Given the description of an element on the screen output the (x, y) to click on. 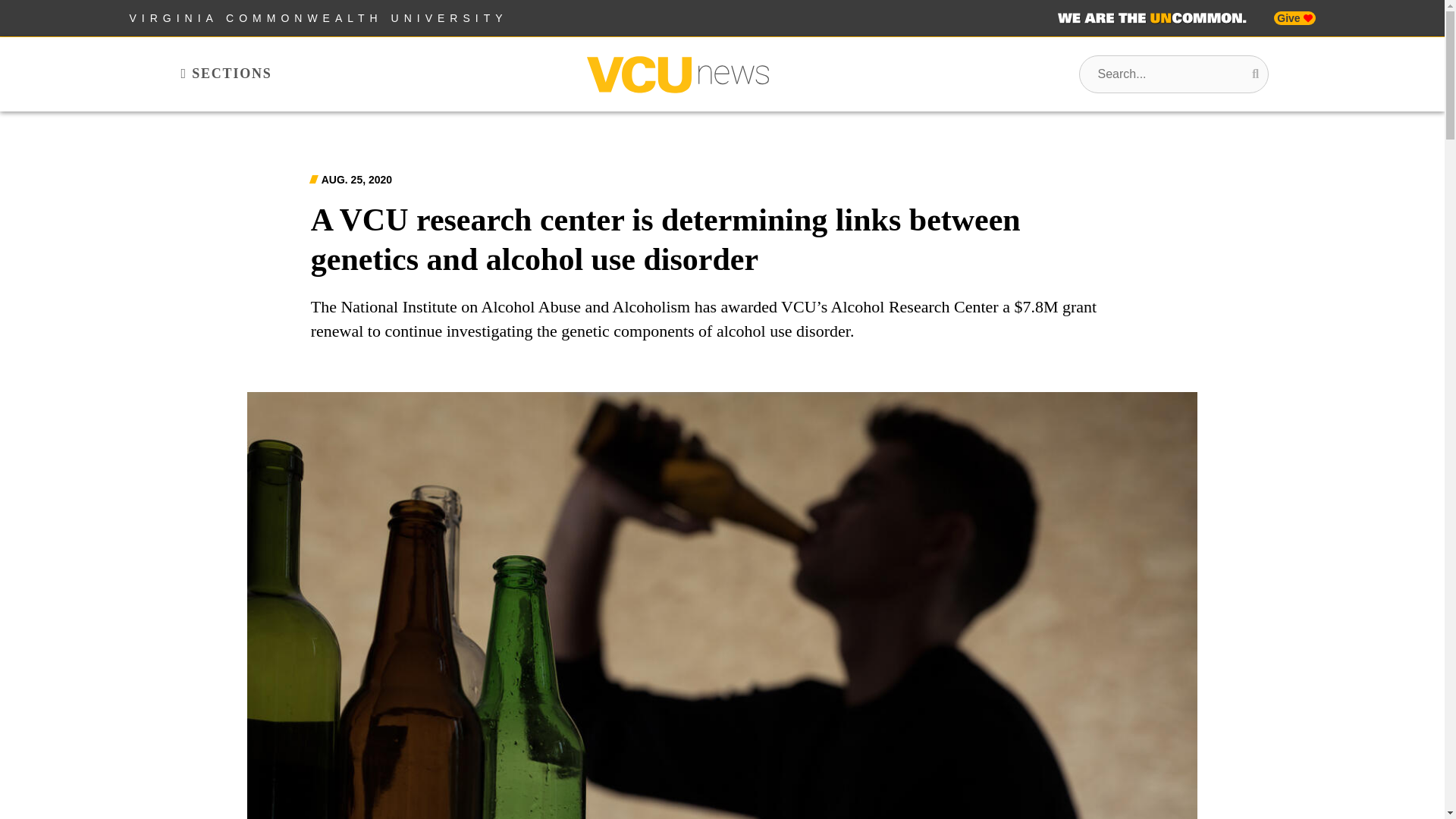
VCU news (677, 74)
We are the UNCOMMON. (1152, 17)
Give  (1294, 18)
SECTIONS (226, 74)
VIRGINIA COMMONWEALTH UNIVERSITY (317, 18)
